Given the description of an element on the screen output the (x, y) to click on. 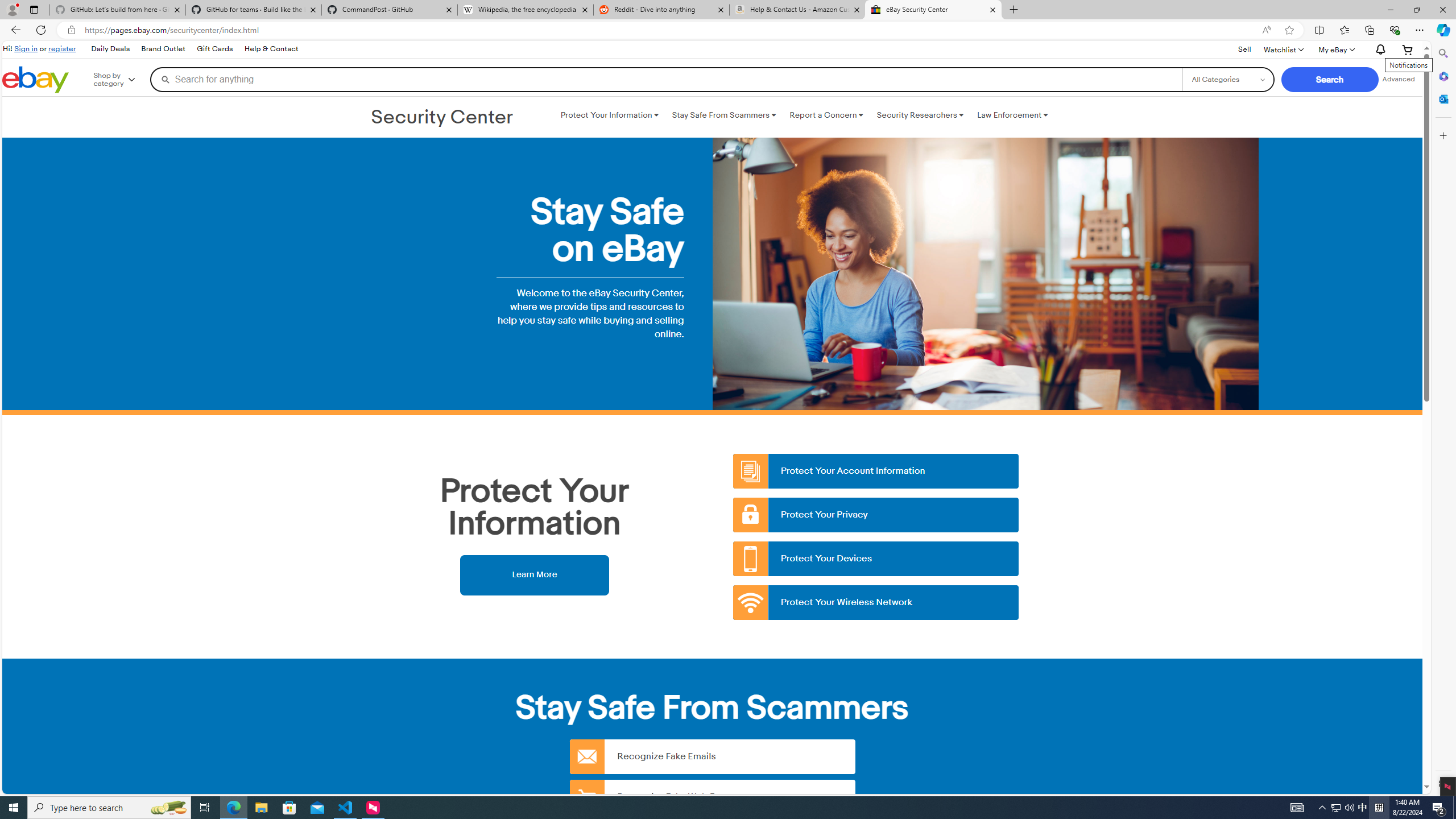
Brand Outlet (162, 49)
